Given the description of an element on the screen output the (x, y) to click on. 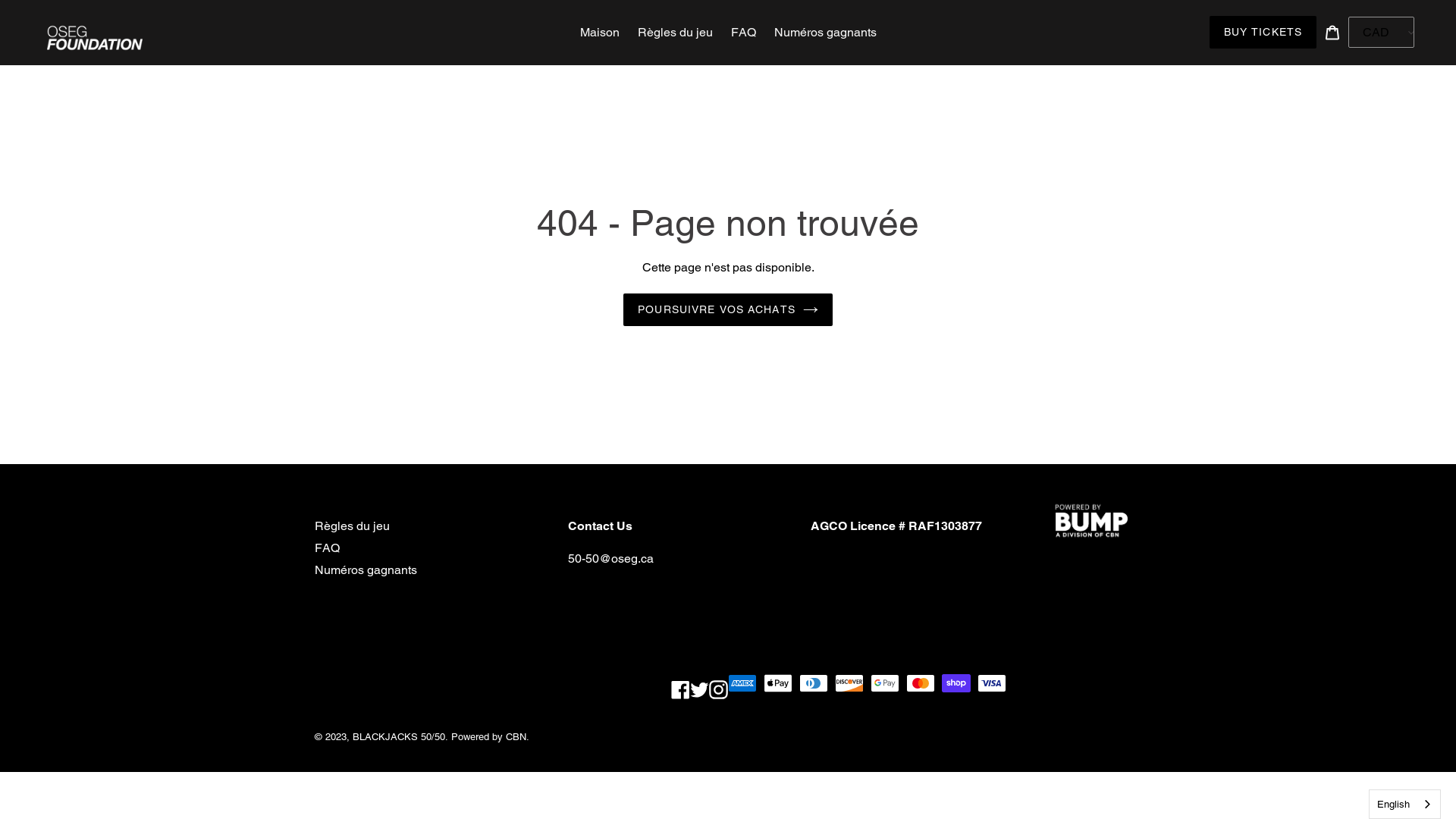
50-50@oseg.ca Element type: text (610, 558)
Instagram Element type: text (718, 688)
English Element type: text (1404, 804)
POURSUIVRE VOS ACHATS Element type: text (727, 309)
BLACKJACKS 50/50 Element type: text (398, 736)
Panier Element type: text (1332, 31)
FAQ Element type: text (326, 547)
Maison Element type: text (598, 32)
Twitter Element type: text (699, 688)
BUY TICKETS Element type: text (1262, 31)
Facebook Element type: text (680, 688)
FAQ Element type: text (743, 32)
